Given the description of an element on the screen output the (x, y) to click on. 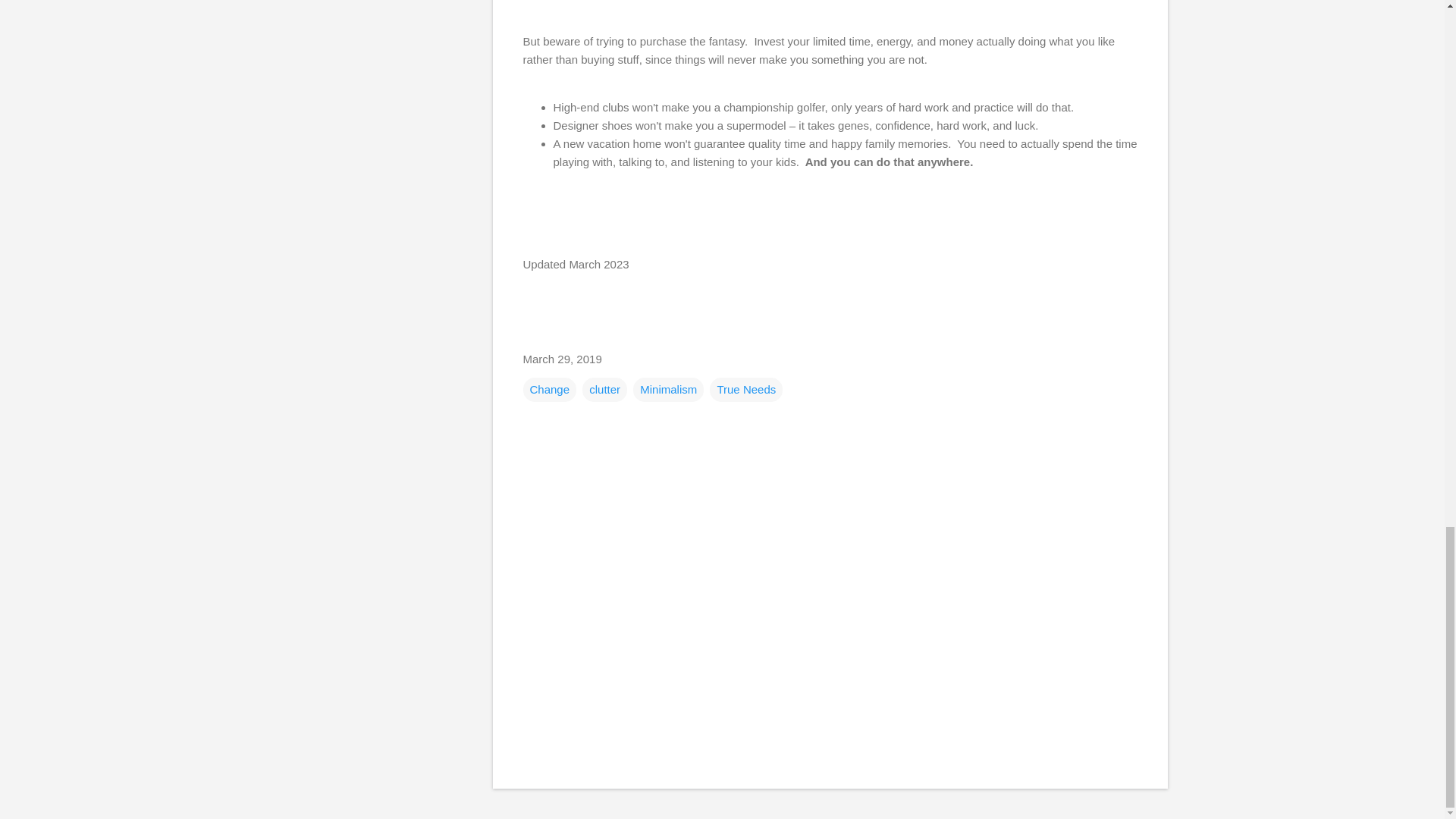
March 29, 2019 (562, 358)
Minimalism (668, 388)
Change (549, 388)
clutter (604, 388)
permanent link (562, 358)
Email Post (531, 334)
True Needs (746, 388)
